Given the description of an element on the screen output the (x, y) to click on. 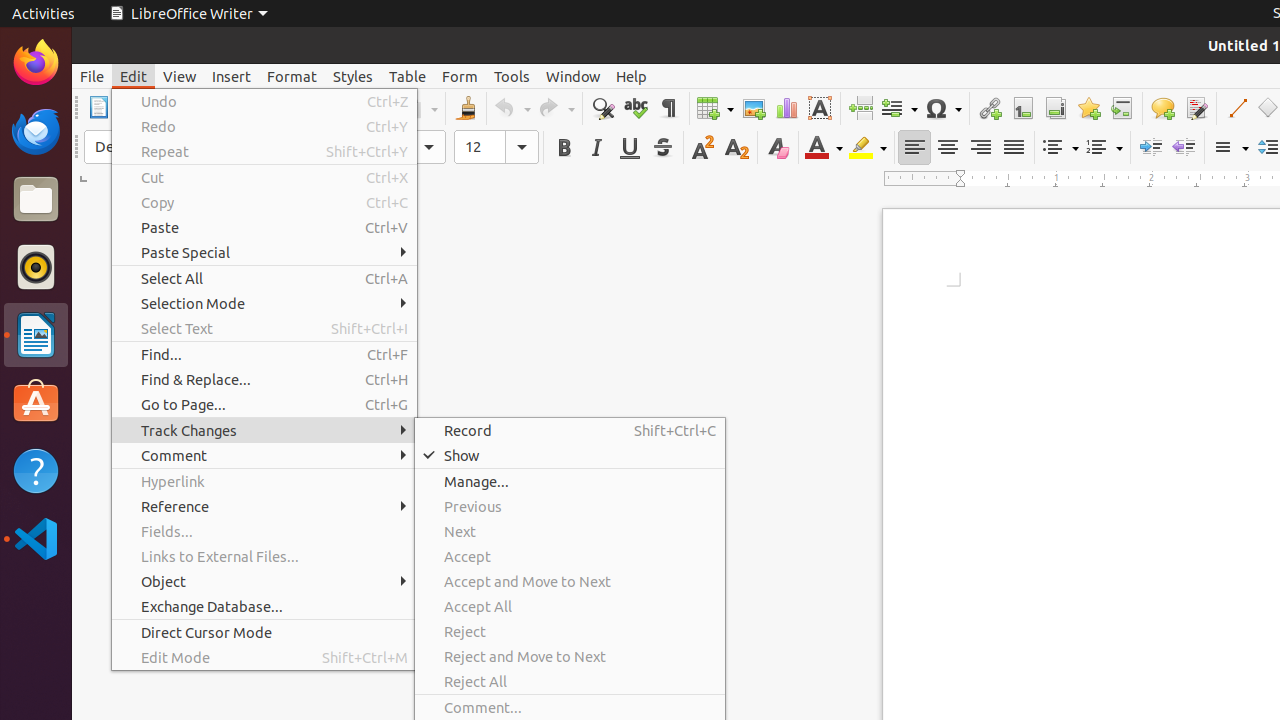
Exchange Database... Element type: menu-item (264, 606)
Accept Element type: menu-item (570, 556)
Right Element type: toggle-button (980, 147)
Page Break Element type: push-button (860, 108)
Numbering Element type: push-button (1104, 147)
